Given the description of an element on the screen output the (x, y) to click on. 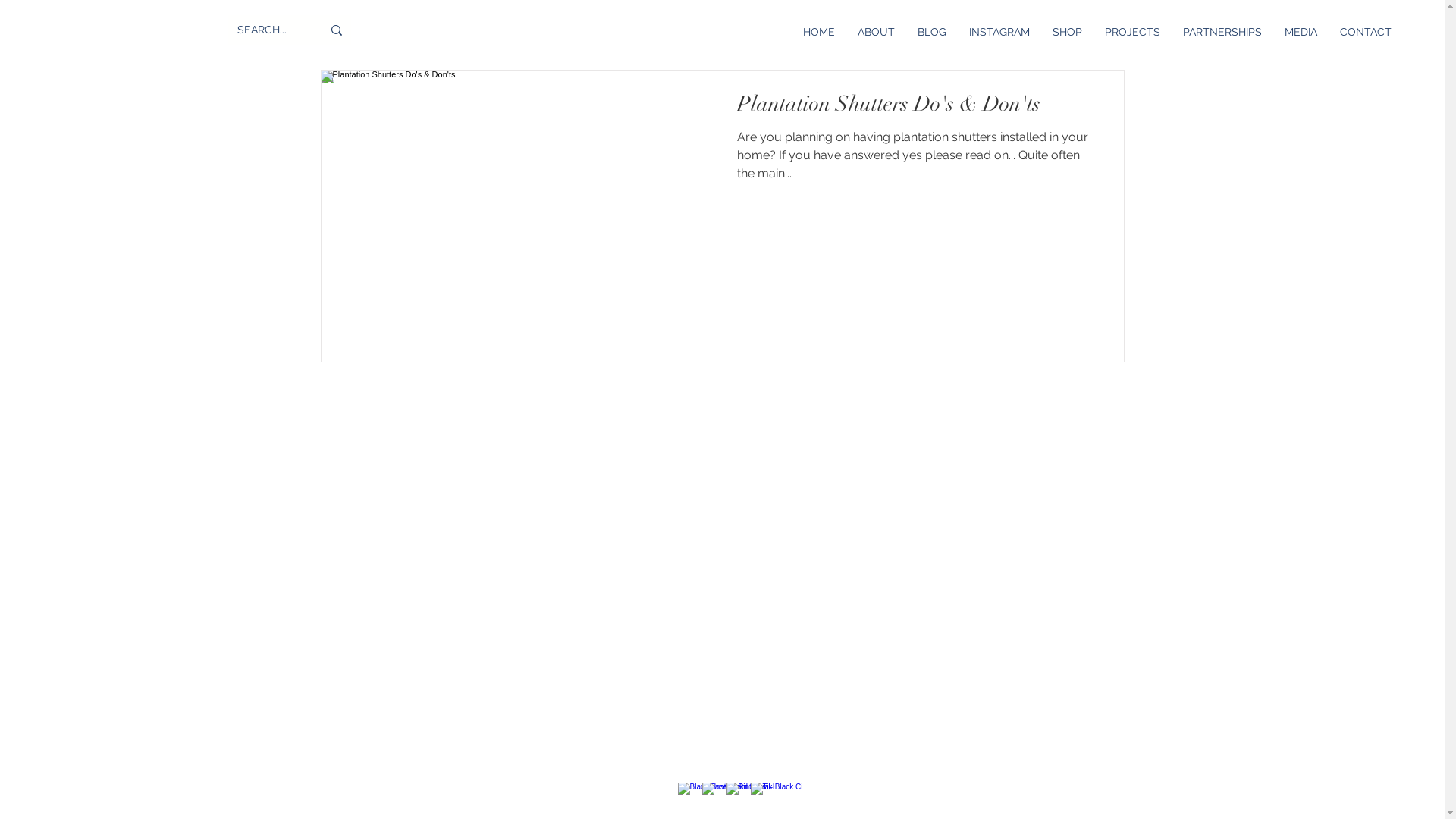
PARTNERSHIPS Element type: text (1222, 32)
CONTACT Element type: text (1365, 32)
INSTAGRAM Element type: text (999, 32)
All Posts Element type: text (349, 24)
ABOUT Element type: text (876, 32)
BLOG Element type: text (931, 32)
HOME Element type: text (818, 32)
Plantation Shutters Do's & Don'ts Element type: text (916, 108)
MEDIA Element type: text (1300, 32)
